Given the description of an element on the screen output the (x, y) to click on. 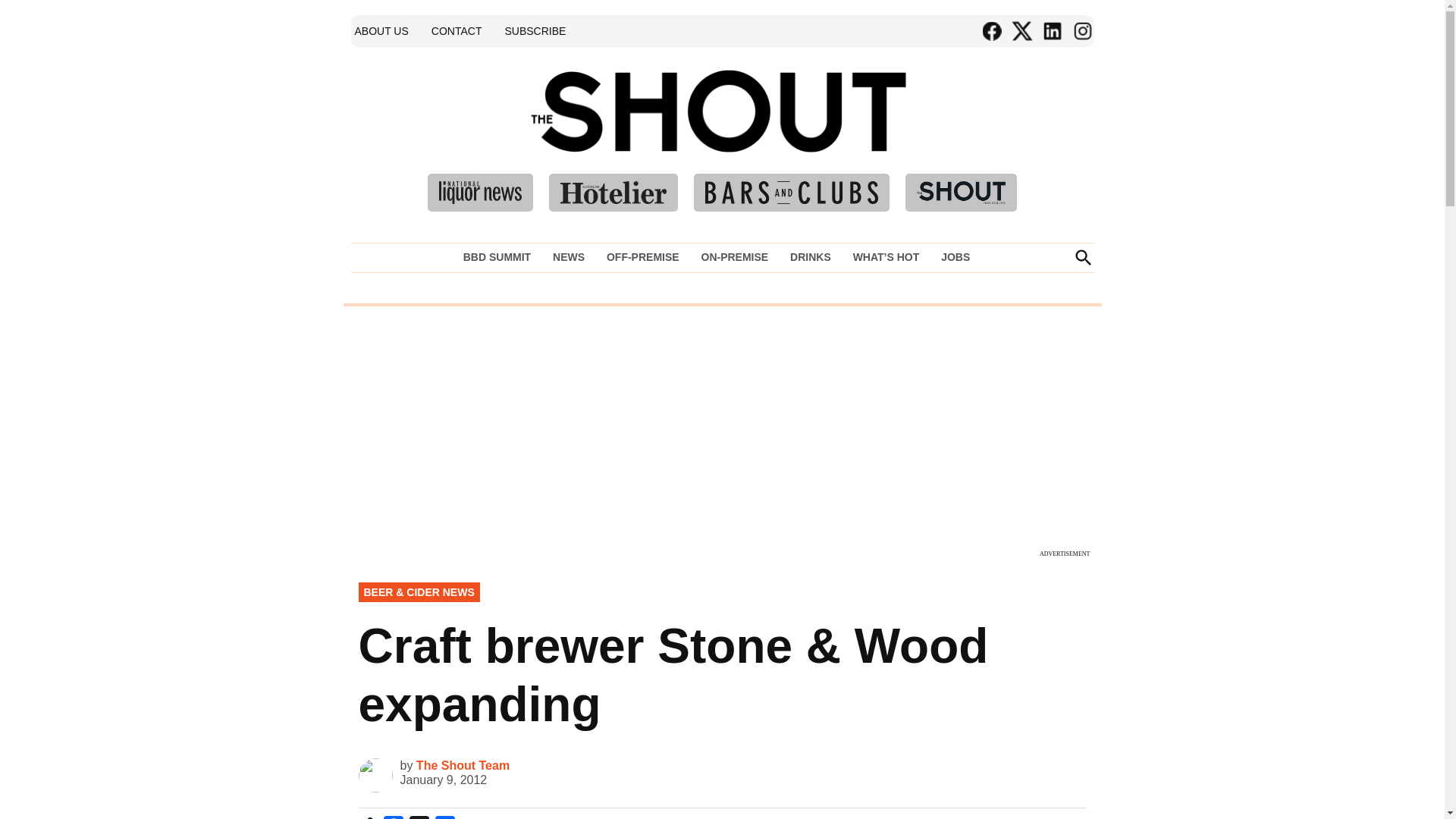
Facebook (393, 817)
CONTACT (457, 30)
Facebook (991, 31)
The Shout (939, 133)
NEWS (568, 256)
BBD SUMMIT (500, 256)
ABOUT US (381, 30)
Instagram (1081, 31)
Twitter (1021, 31)
SUBSCRIBE (534, 30)
Linkedin (1051, 31)
OFF-PREMISE (642, 256)
ON-PREMISE (734, 256)
X (419, 817)
